Given the description of an element on the screen output the (x, y) to click on. 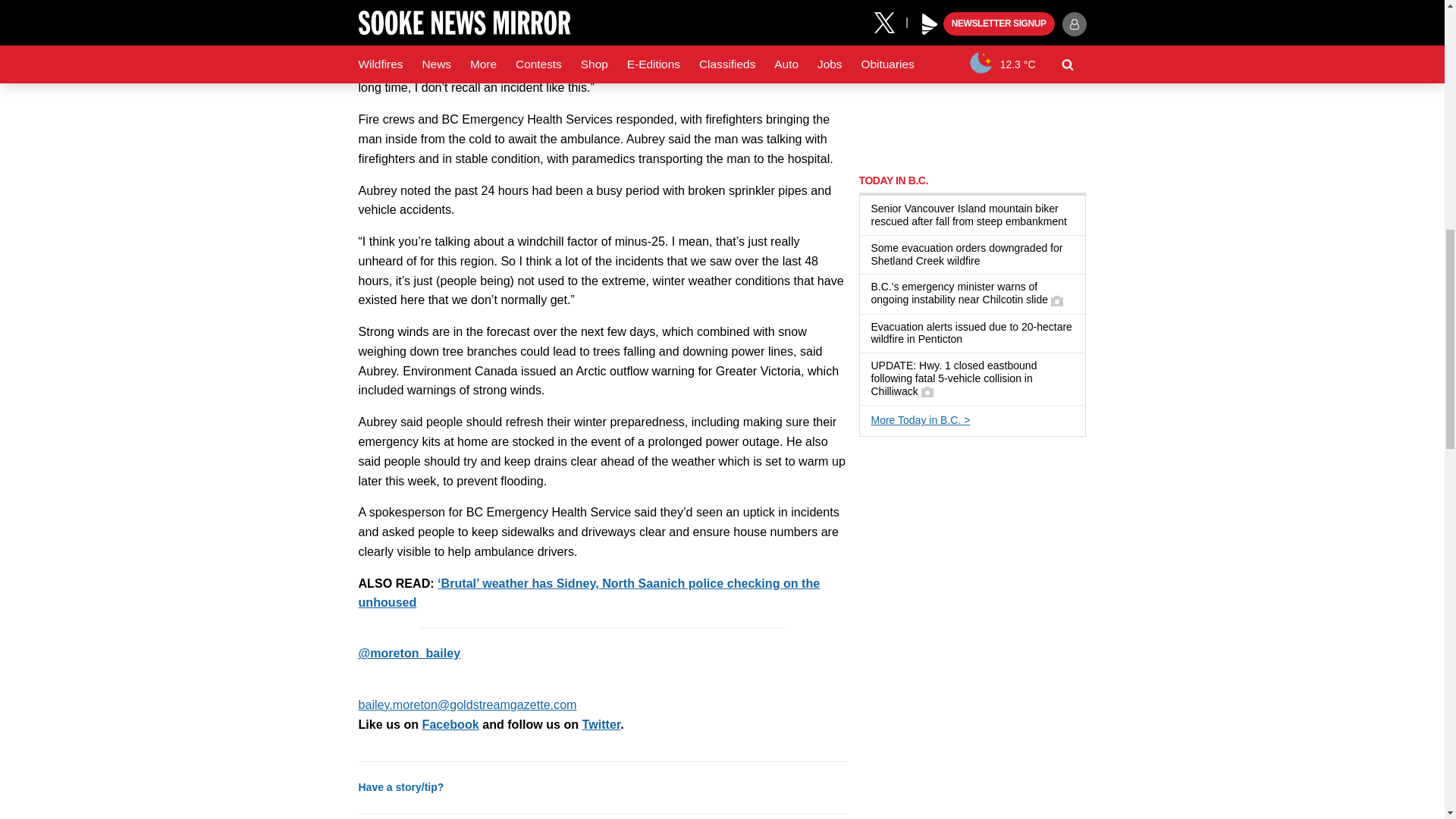
Has a gallery (927, 391)
Has a gallery (1056, 300)
